Given the description of an element on the screen output the (x, y) to click on. 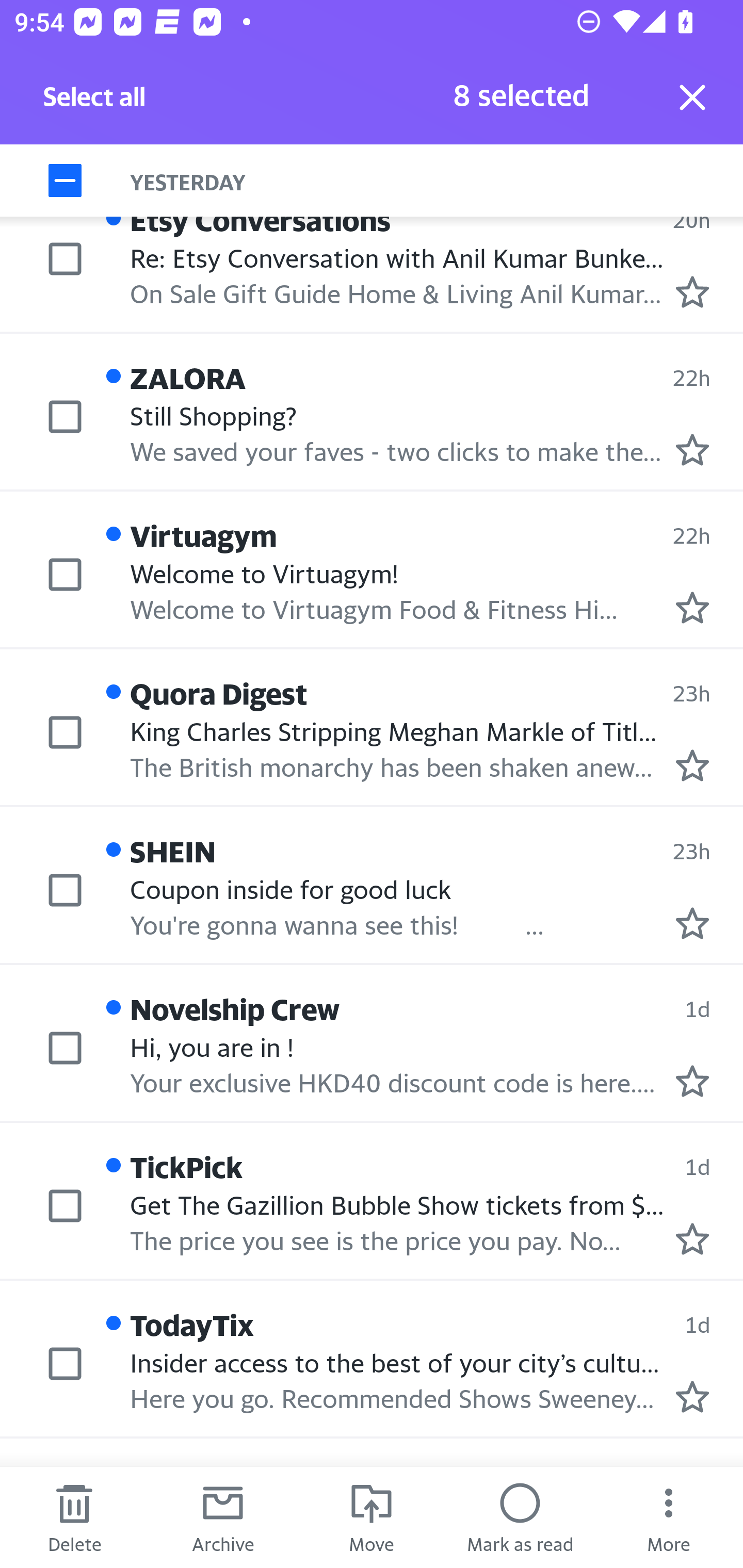
Exit selection mode (692, 97)
Select all (94, 101)
Mark as starred. (692, 292)
Mark as starred. (692, 449)
Mark as starred. (692, 607)
Mark as starred. (692, 765)
Mark as starred. (692, 922)
Mark as starred. (692, 1081)
Mark as starred. (692, 1239)
Mark as starred. (692, 1396)
Delete (74, 1517)
Archive (222, 1517)
Move (371, 1517)
Mark as read (519, 1517)
More (668, 1517)
